Given the description of an element on the screen output the (x, y) to click on. 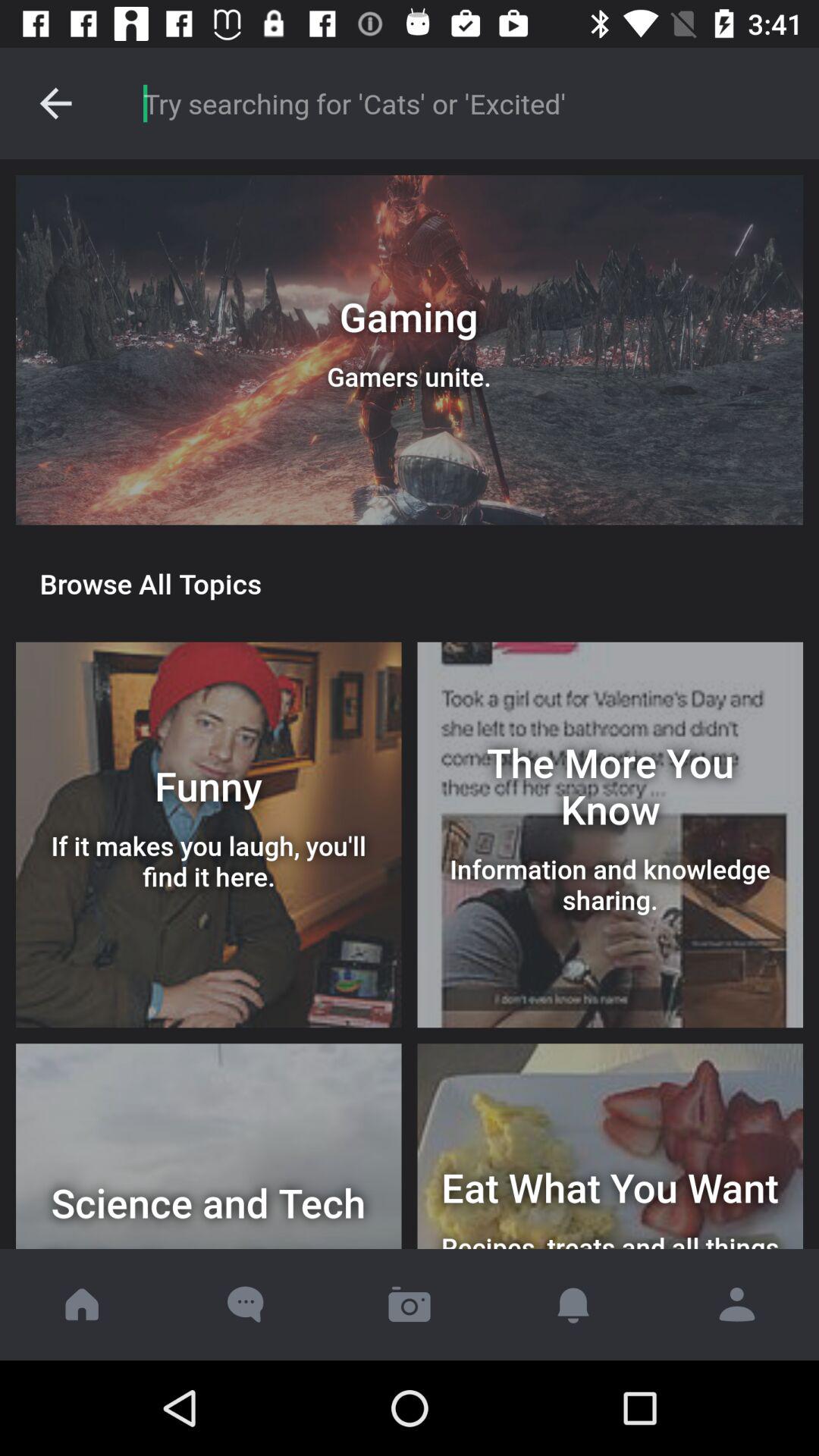
click on the bell icon at bottom of the page (573, 1305)
